Given the description of an element on the screen output the (x, y) to click on. 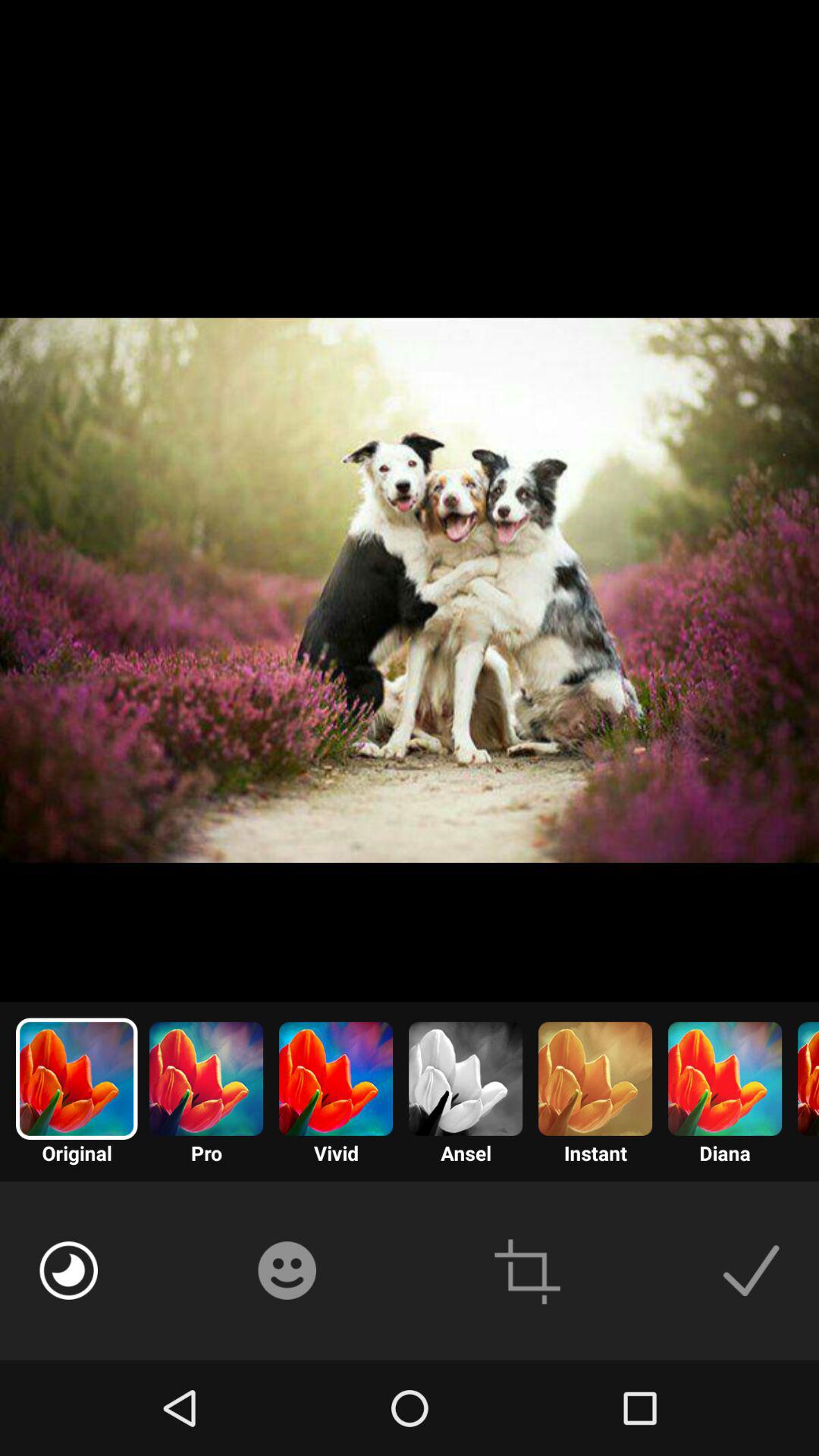
select this item (751, 1270)
